Given the description of an element on the screen output the (x, y) to click on. 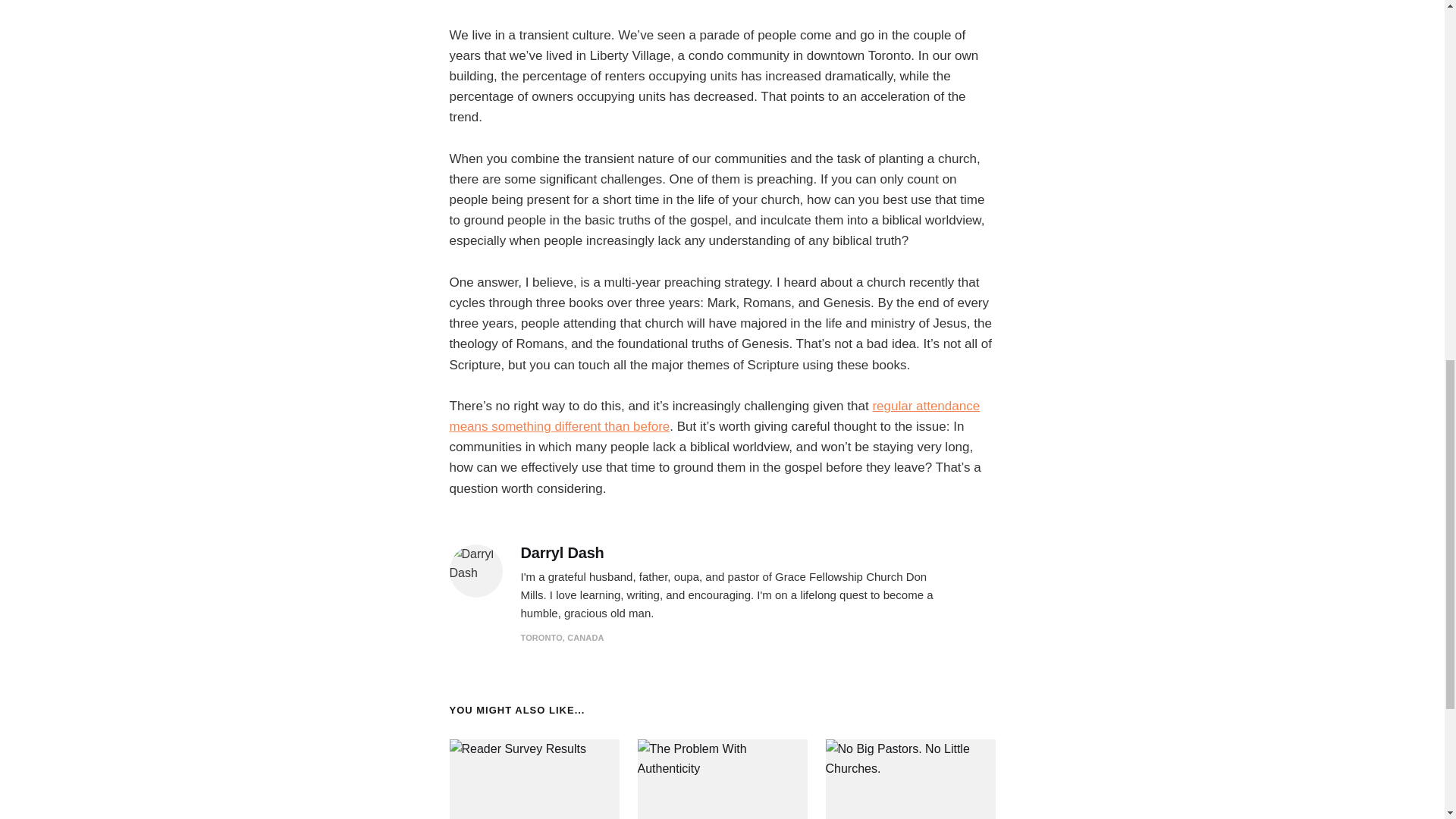
Darryl Dash (561, 552)
regular attendance means something different than before (713, 416)
